Given the description of an element on the screen output the (x, y) to click on. 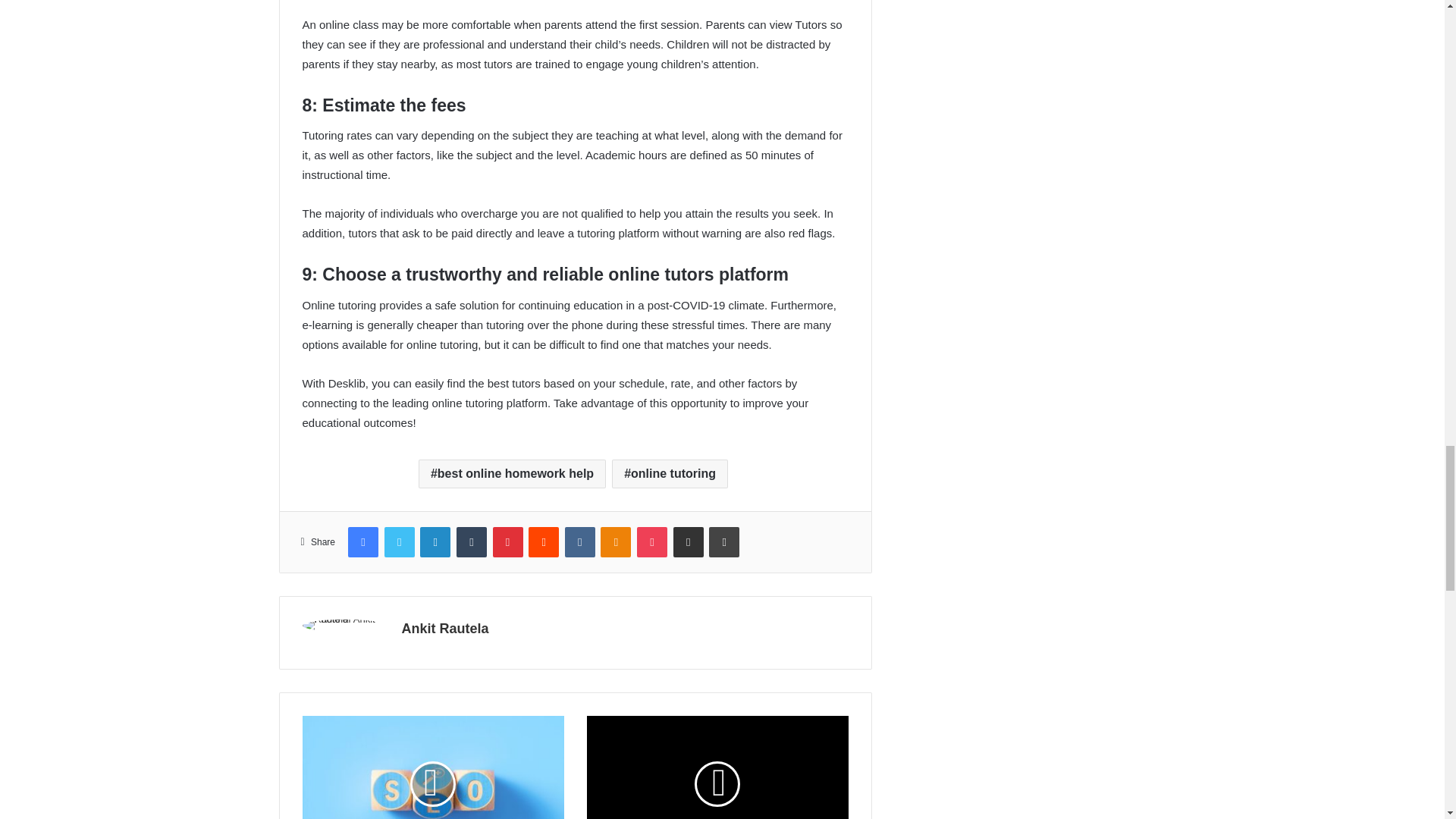
VKontakte (579, 542)
Pocket (651, 542)
Share via Email (687, 542)
LinkedIn (434, 542)
Reddit (543, 542)
Twitter (399, 542)
Tumblr (471, 542)
online tutoring (669, 473)
Facebook (362, 542)
Reddit (543, 542)
